Given the description of an element on the screen output the (x, y) to click on. 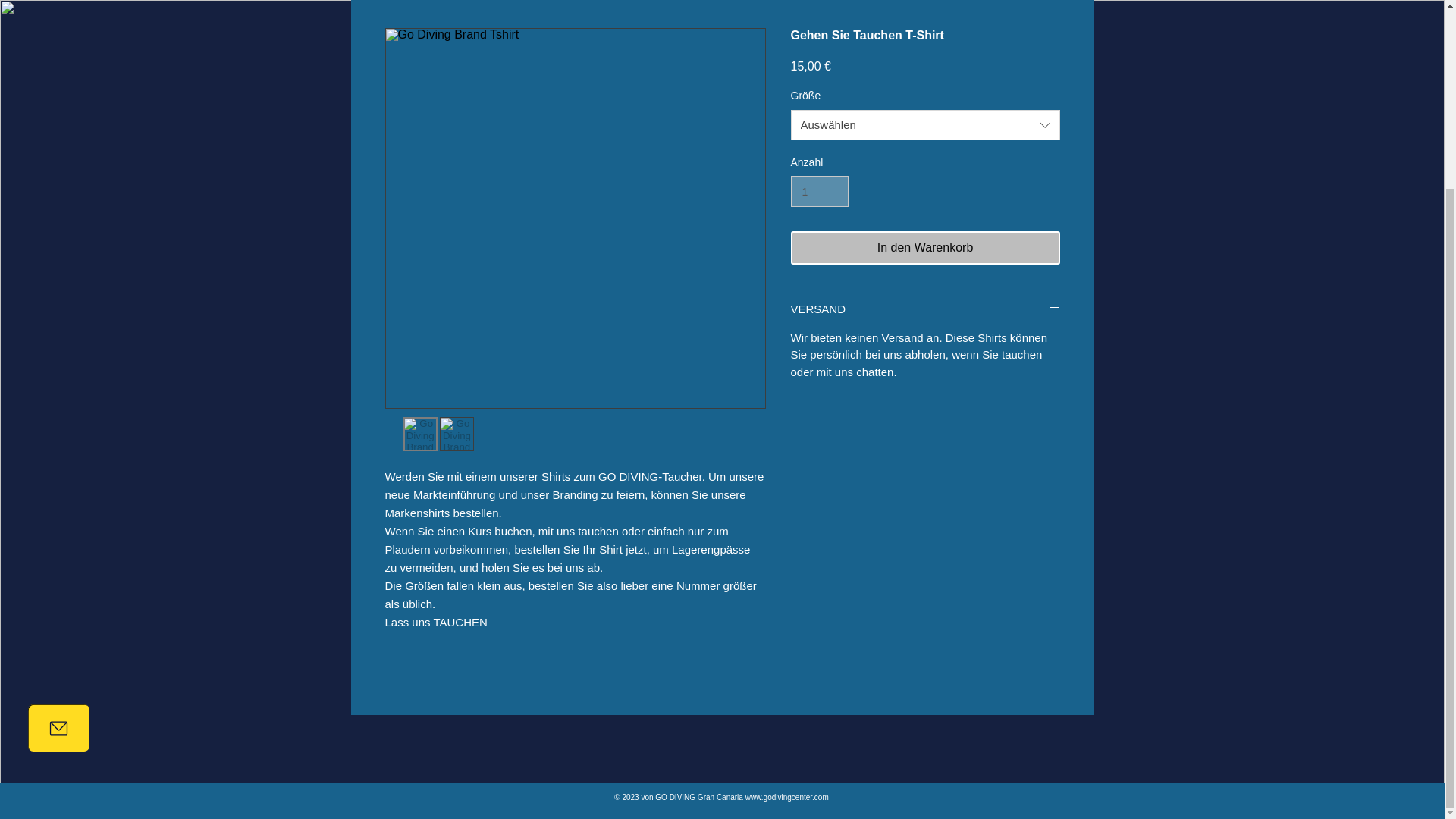
1 (818, 191)
